Given the description of an element on the screen output the (x, y) to click on. 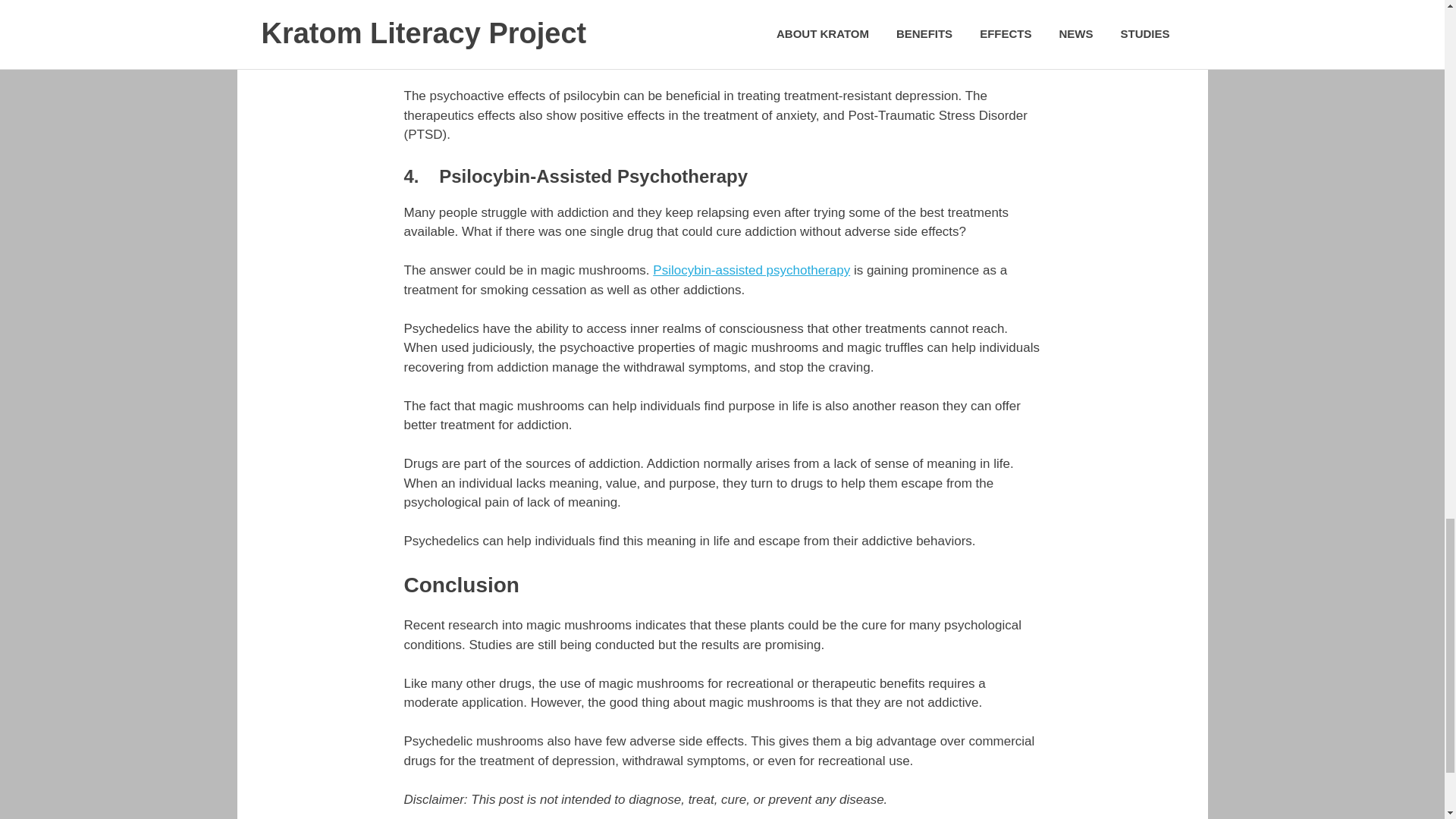
Psilocybin-assisted psychotherapy (751, 269)
